Given the description of an element on the screen output the (x, y) to click on. 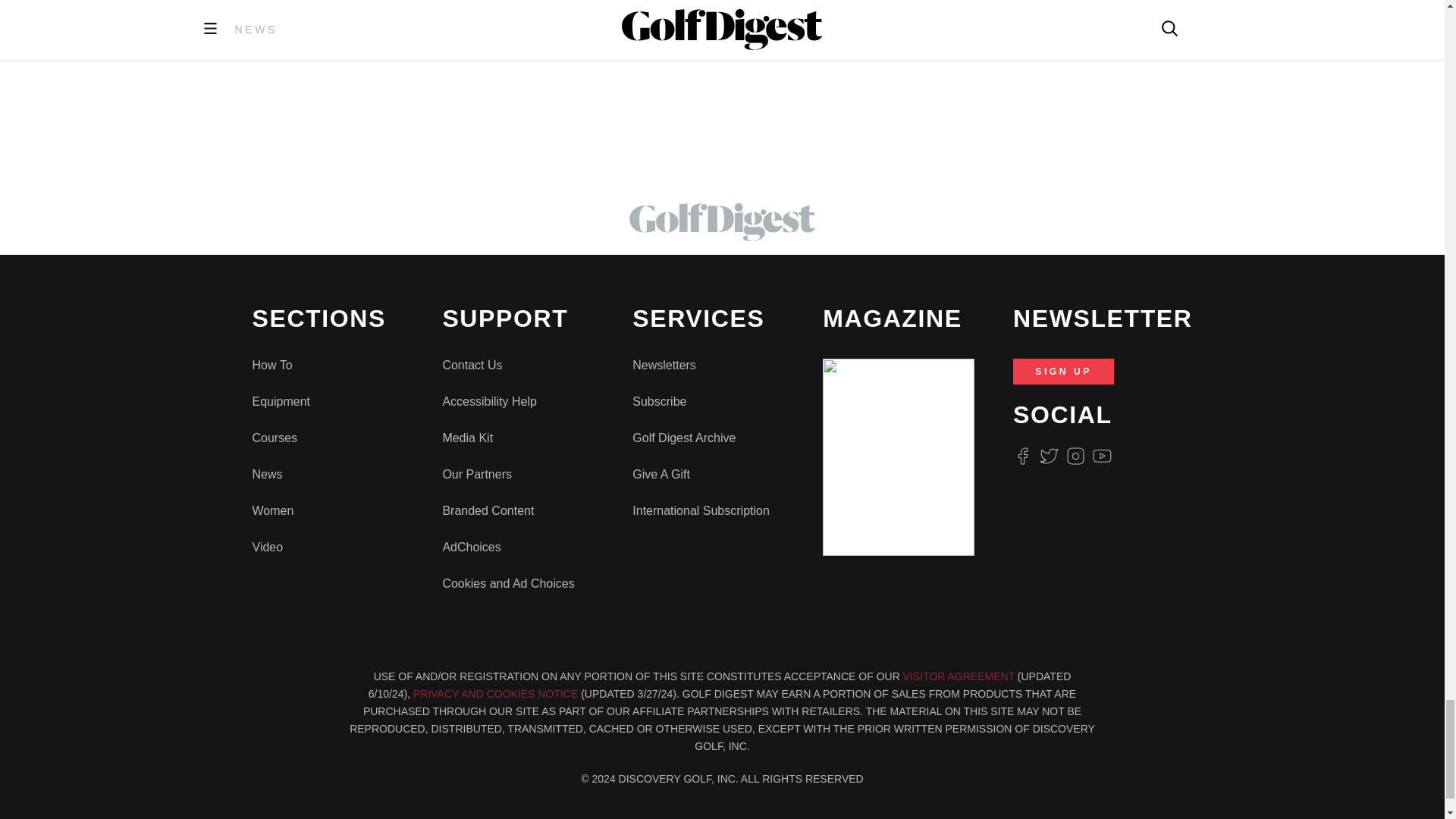
Instagram Logo (1074, 456)
Twitter Logo (1048, 456)
Facebook Logo (1022, 456)
Youtube Icon (1102, 456)
